Given the description of an element on the screen output the (x, y) to click on. 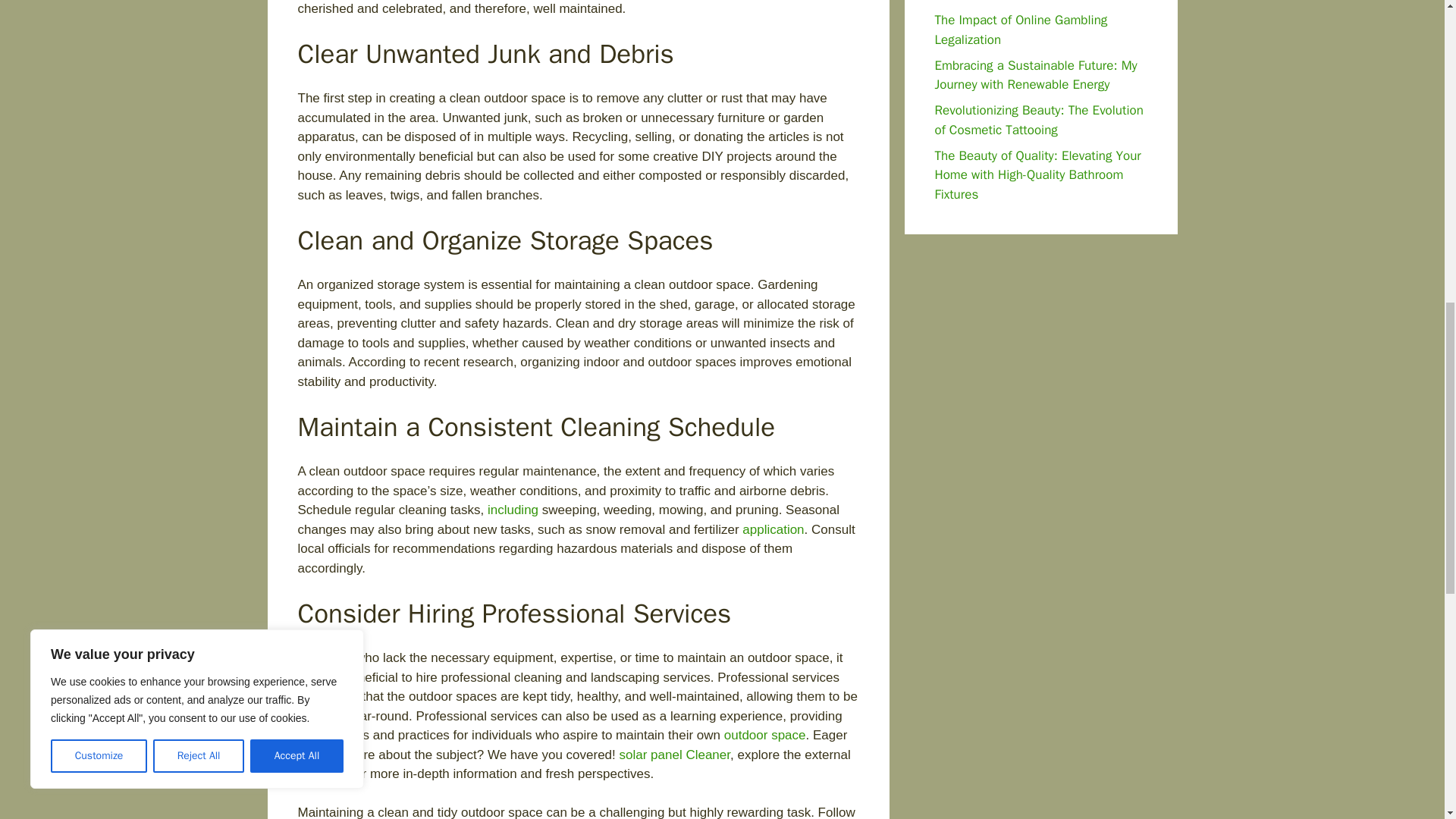
including (512, 509)
application (772, 529)
outdoor space (764, 735)
solar panel Cleaner (673, 754)
